Given the description of an element on the screen output the (x, y) to click on. 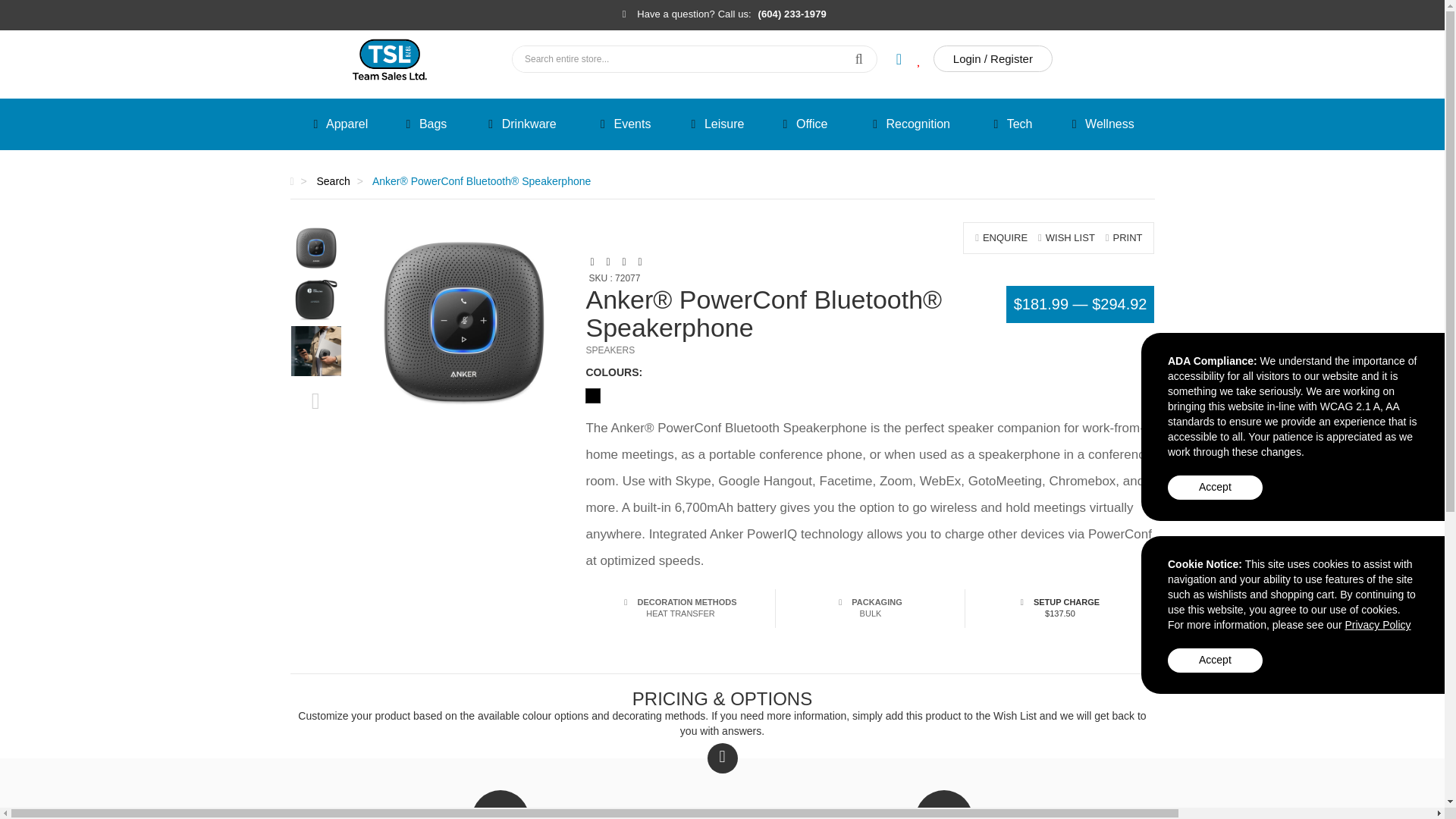
Drinkware (519, 123)
Apparel (337, 123)
Bags (423, 123)
